Given the description of an element on the screen output the (x, y) to click on. 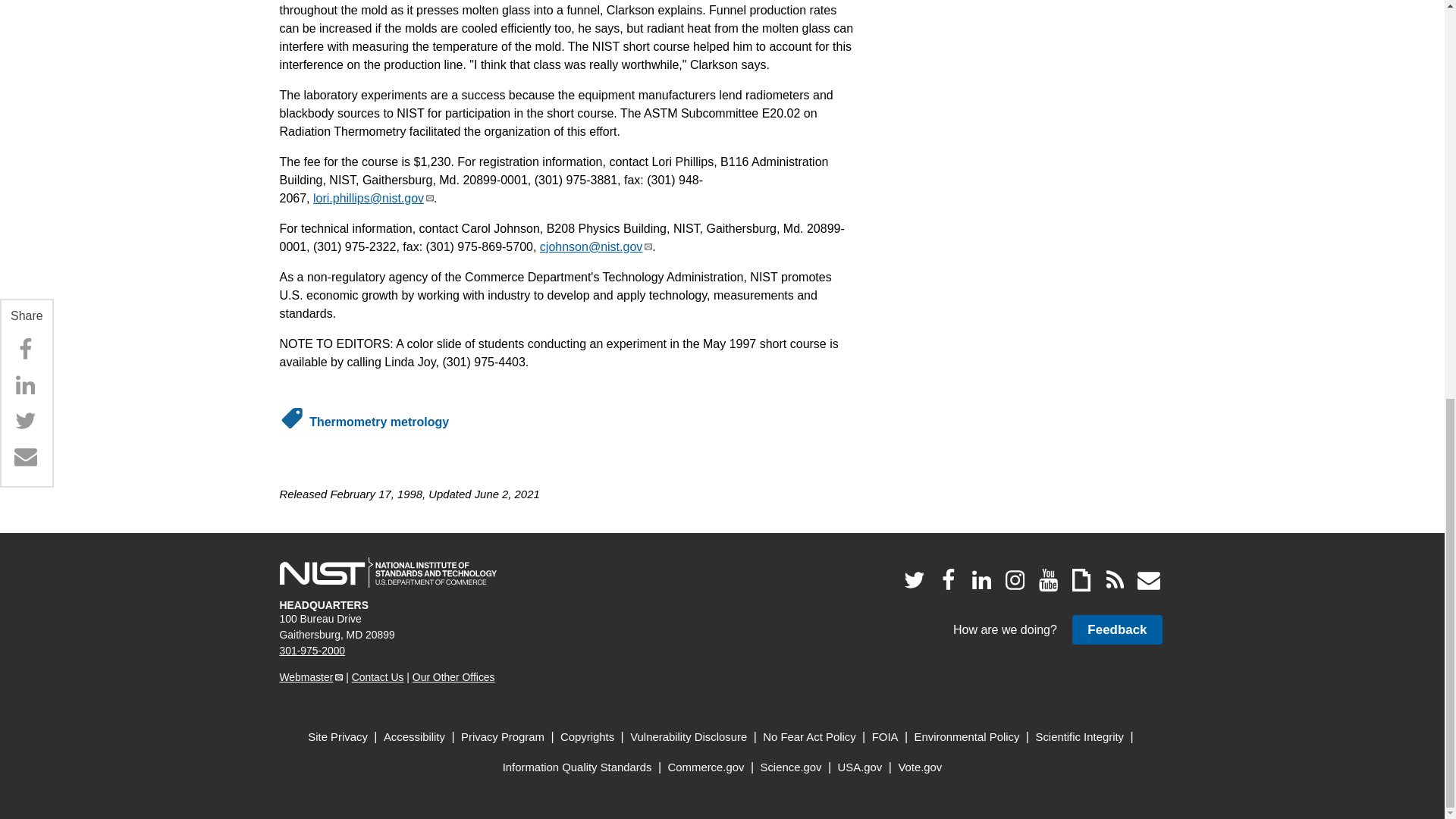
National Institute of Standards and Technology (387, 572)
301-975-2000 (312, 650)
Thermometry metrology (378, 421)
Our Other Offices (453, 676)
Webmaster (310, 676)
Contact Us (378, 676)
Feedback (1116, 629)
Provide feedback (1116, 629)
